Given the description of an element on the screen output the (x, y) to click on. 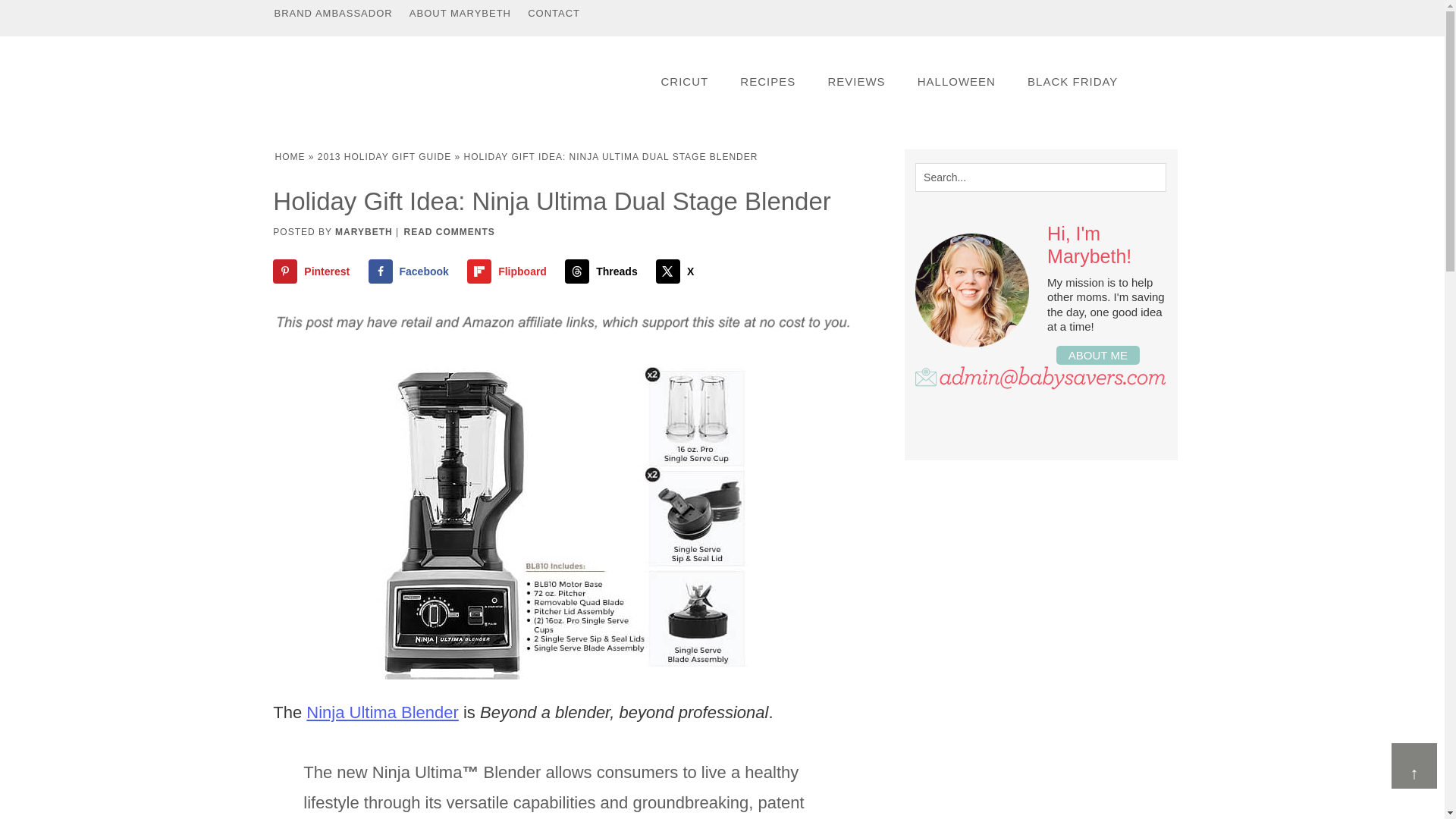
REVIEWS (855, 81)
Share on X (678, 271)
2013 HOLIDAY GIFT GUIDE (384, 156)
CONTACT (553, 13)
MARYBETH (363, 231)
CRICUT (684, 81)
ABOUT MARYBETH (460, 13)
Share on Threads (603, 271)
Flipboard (510, 271)
Share on Facebook (411, 271)
